Given the description of an element on the screen output the (x, y) to click on. 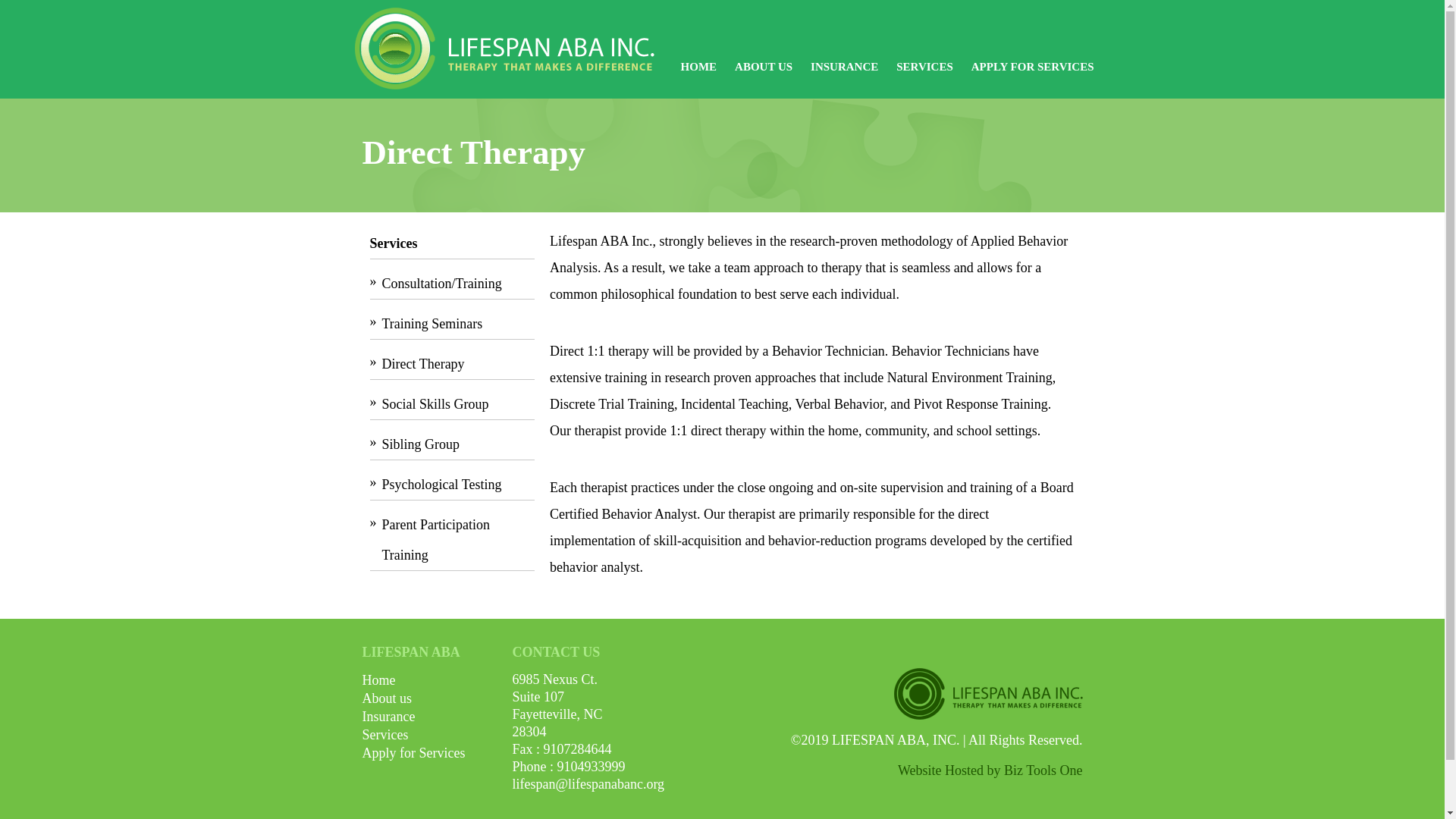
SERVICES (924, 69)
Home (379, 679)
Psychological Testing (458, 483)
Direct Therapy (458, 363)
ABOUT US (763, 69)
Training Seminars (458, 322)
Insurance (388, 716)
Services (385, 734)
INSURANCE (843, 69)
HOME (699, 69)
Parent Participation Training (458, 539)
APPLY FOR SERVICES (1032, 69)
Apply for Services (413, 752)
Sibling Group (458, 444)
About us (387, 698)
